Given the description of an element on the screen output the (x, y) to click on. 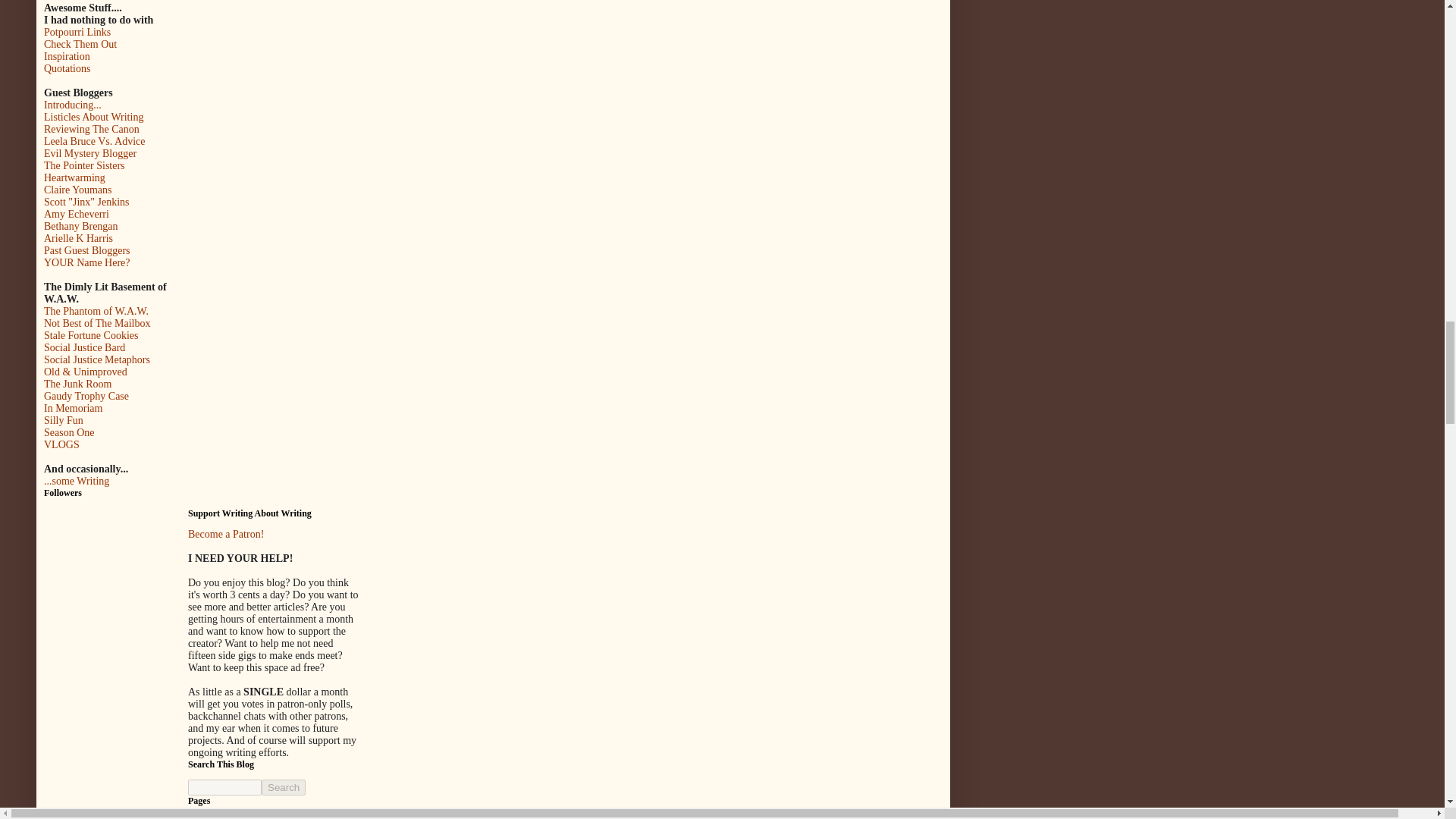
search (283, 787)
search (224, 787)
Search (283, 787)
Search (283, 787)
